Given the description of an element on the screen output the (x, y) to click on. 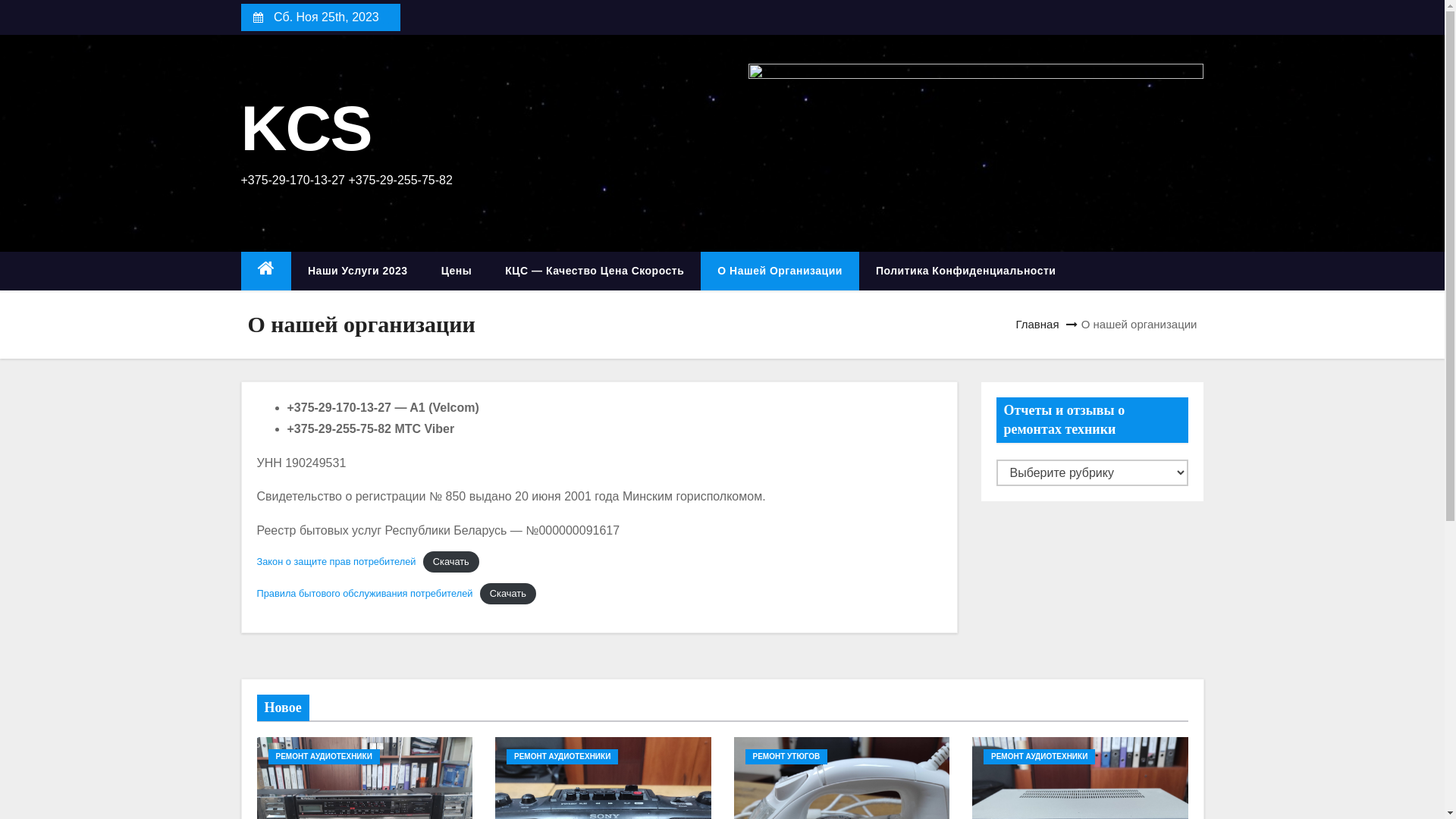
Home Element type: hover (266, 270)
KCS Element type: text (306, 127)
